Given the description of an element on the screen output the (x, y) to click on. 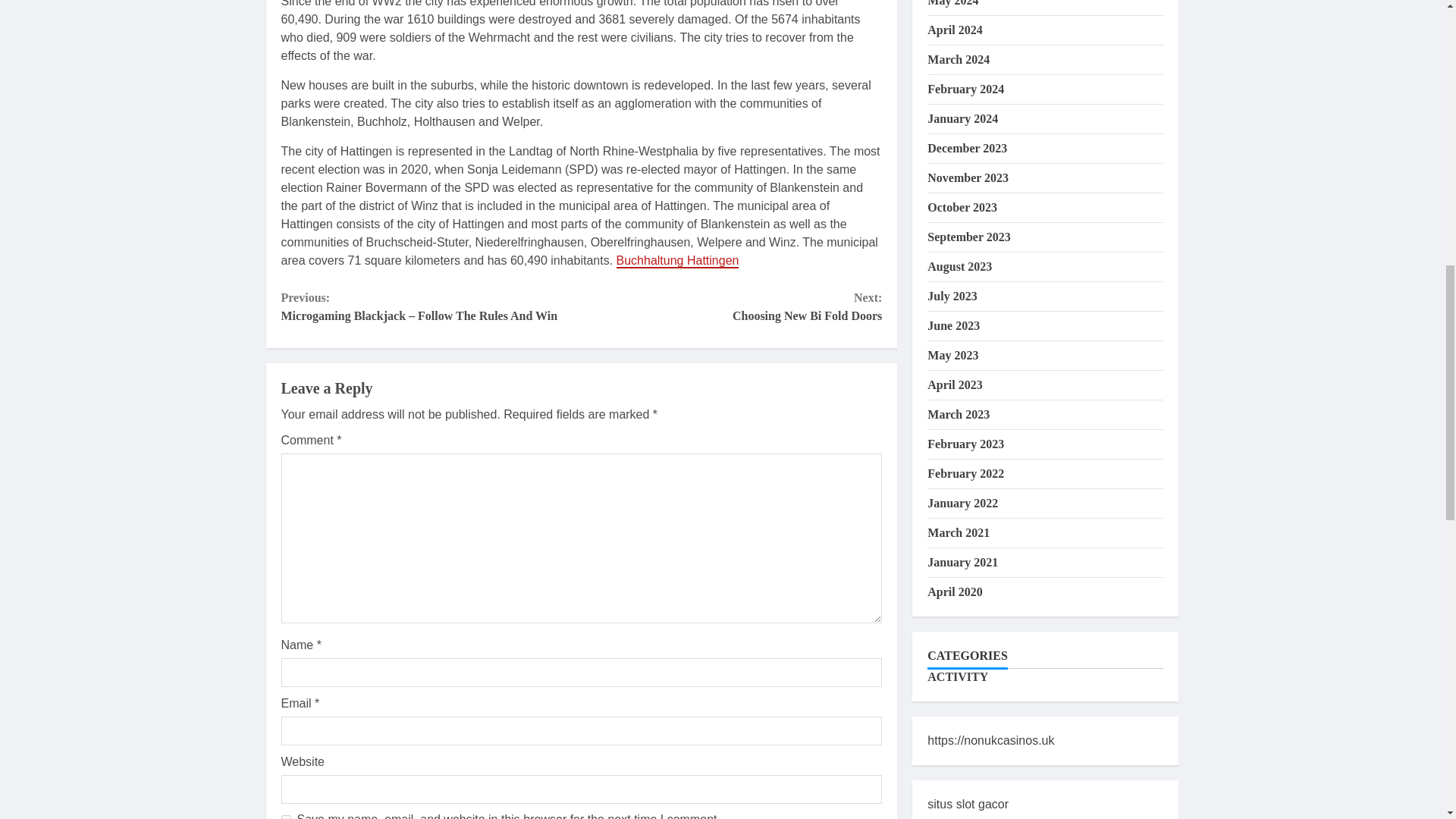
Buchhaltung Hattingen (677, 260)
April 2024 (954, 29)
yes (285, 816)
May 2024 (731, 307)
